Given the description of an element on the screen output the (x, y) to click on. 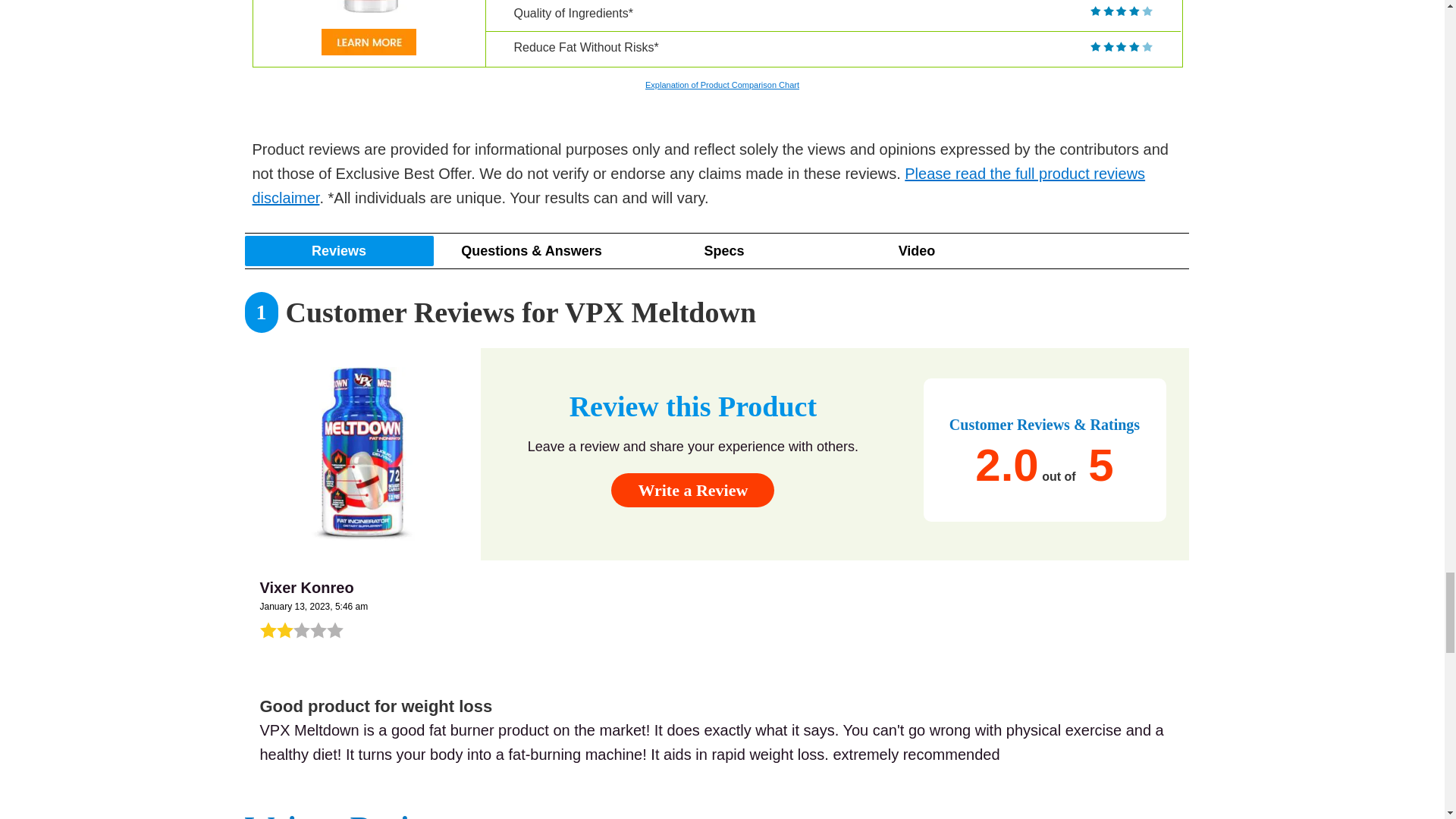
Please read the full product reviews disclaimer (697, 185)
Learn More (368, 41)
